Given the description of an element on the screen output the (x, y) to click on. 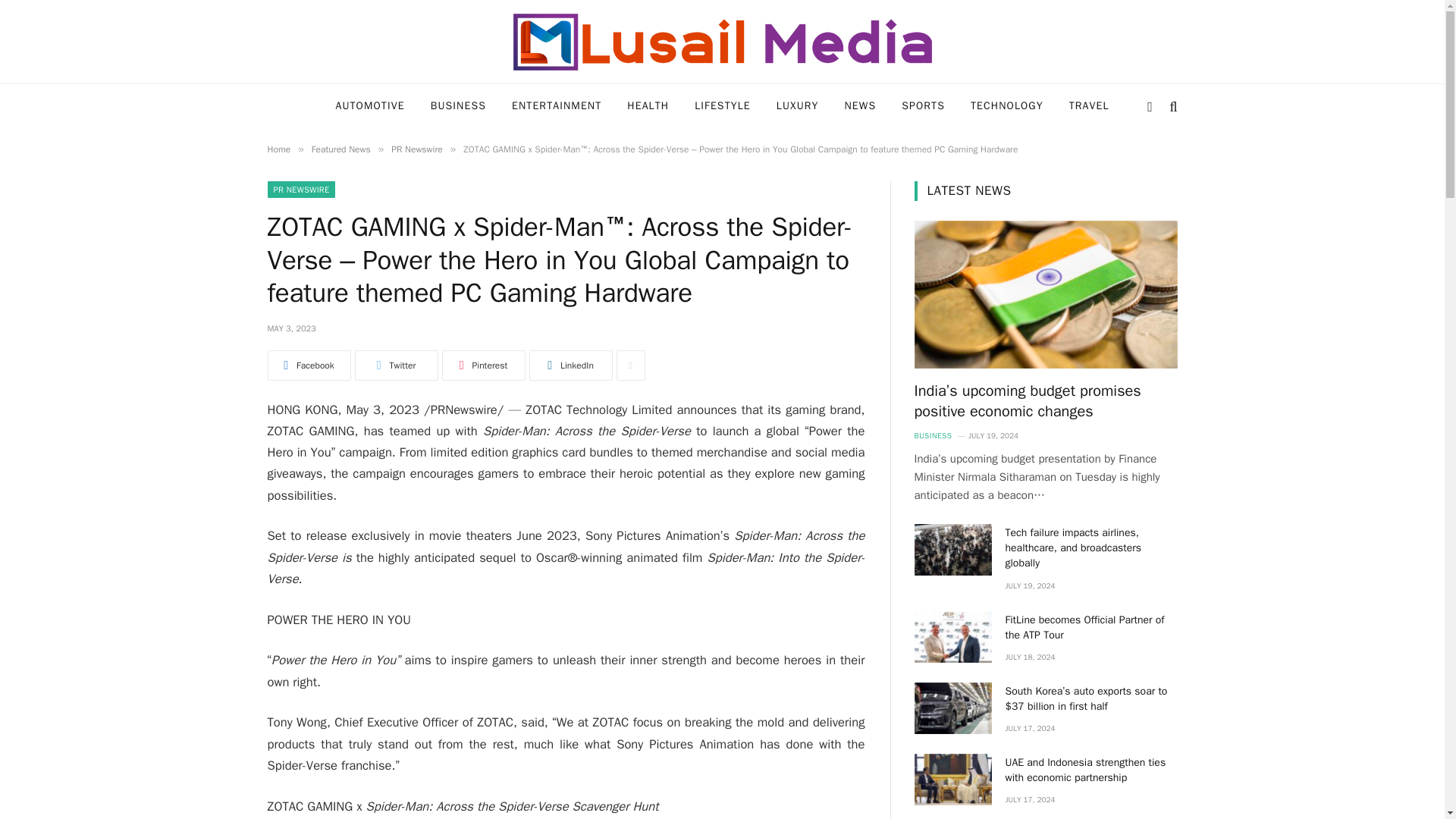
Switch to Dark Design - easier on eyes. (1149, 106)
LinkedIn (570, 365)
Twitter (396, 365)
Share on Facebook (308, 365)
BUSINESS (458, 106)
ENTERTAINMENT (556, 106)
TRAVEL (1089, 106)
Share on LinkedIn (570, 365)
PR Newswire (416, 149)
TECHNOLOGY (1007, 106)
HEALTH (647, 106)
Share on Pinterest (482, 365)
Pinterest (482, 365)
LIFESTYLE (721, 106)
LUXURY (796, 106)
